Given the description of an element on the screen output the (x, y) to click on. 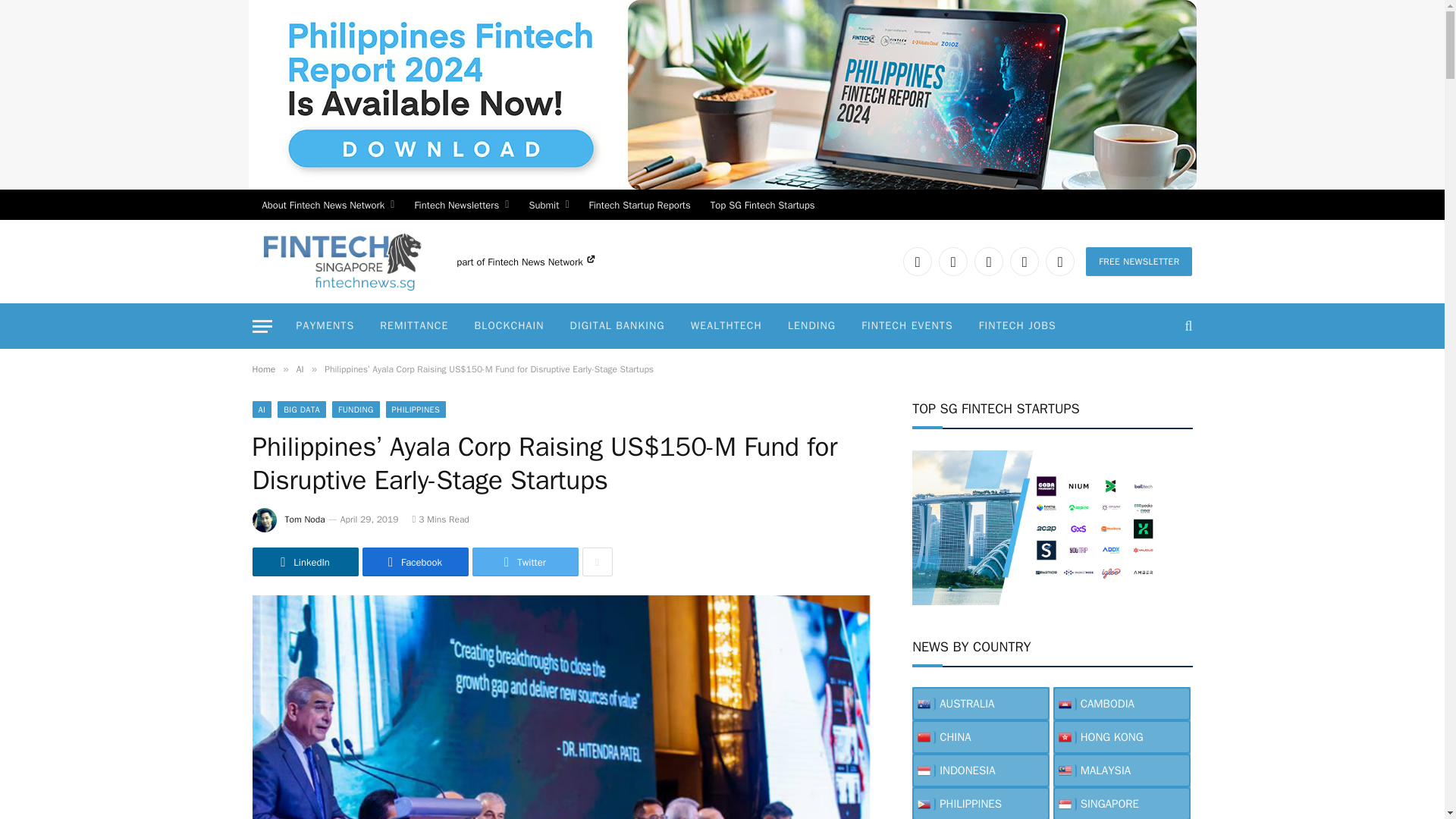
Posts by Tom Noda (304, 519)
Show More Social Sharing (597, 561)
About Fintech News Network (327, 204)
Share on LinkedIn (304, 561)
Fintech Startup Reports (639, 204)
Submit (548, 204)
Fintech Newsletters (461, 204)
Fintech Singapore (340, 261)
Share on Facebook (415, 561)
Top SG Fintech Startups (762, 204)
